Given the description of an element on the screen output the (x, y) to click on. 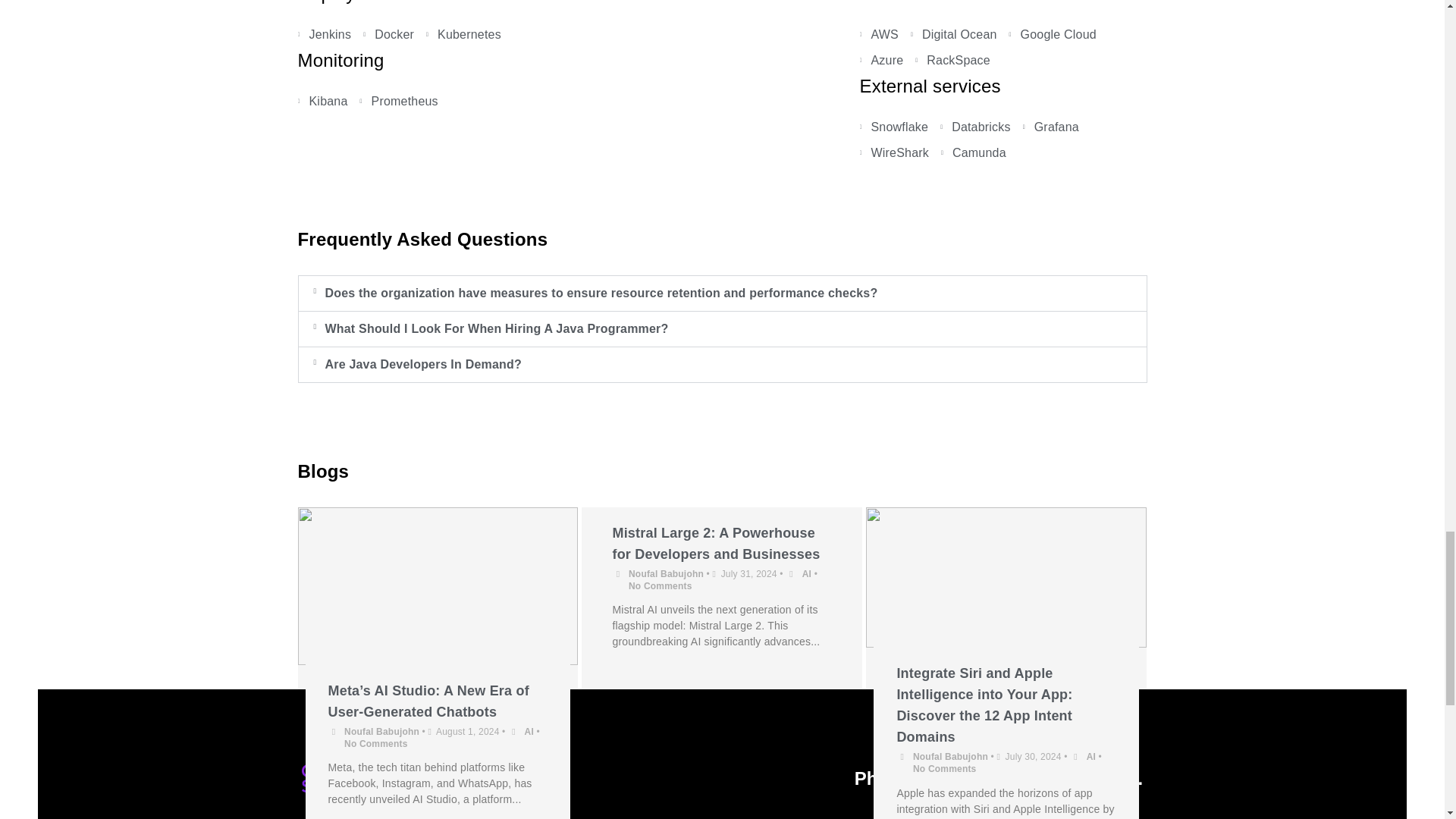
Posts by Noufal Babujohn (665, 573)
Posts by Noufal Babujohn (381, 731)
Posts by Noufal Babujohn (950, 756)
